Given the description of an element on the screen output the (x, y) to click on. 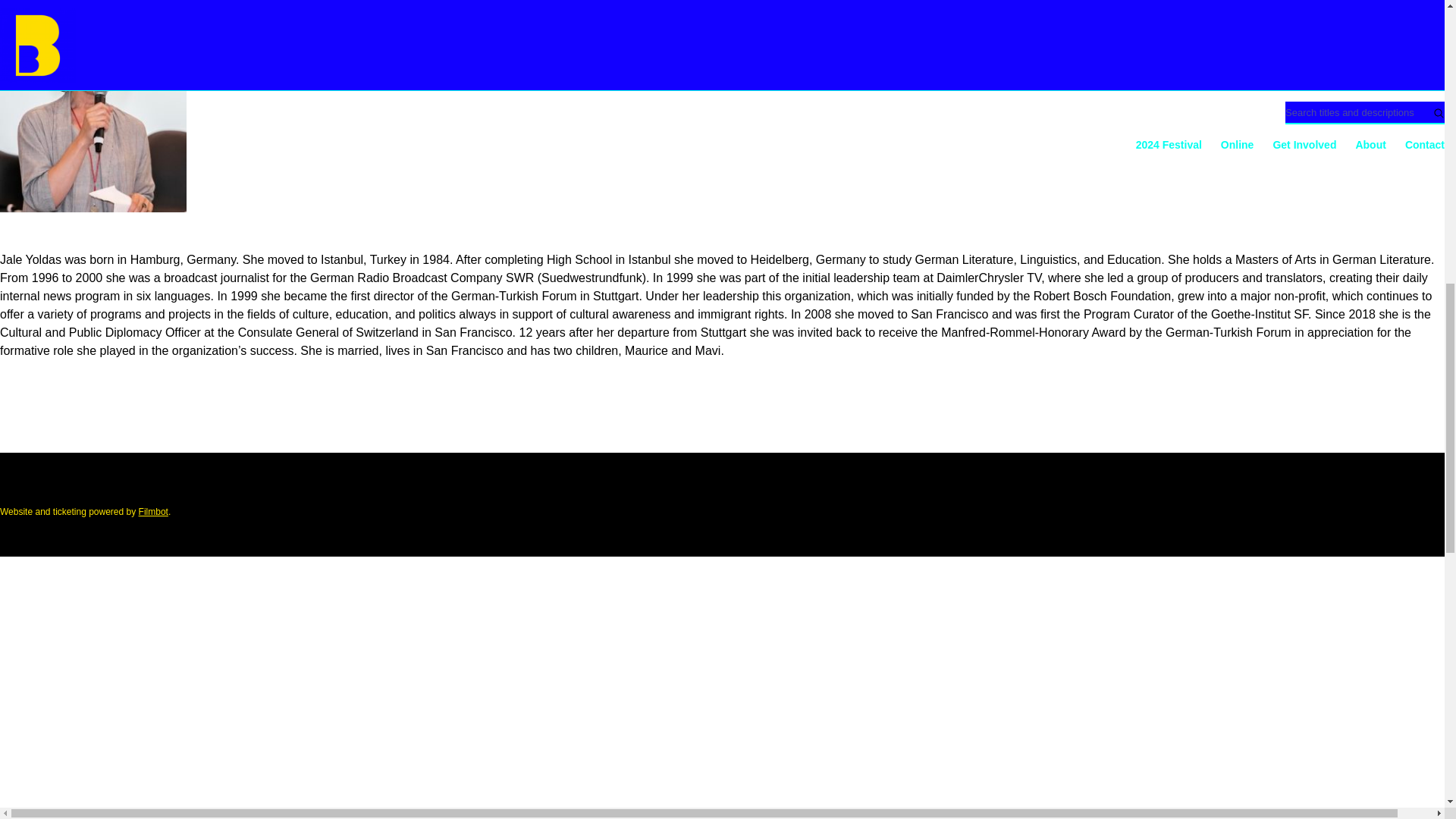
Filmbot (153, 511)
